Given the description of an element on the screen output the (x, y) to click on. 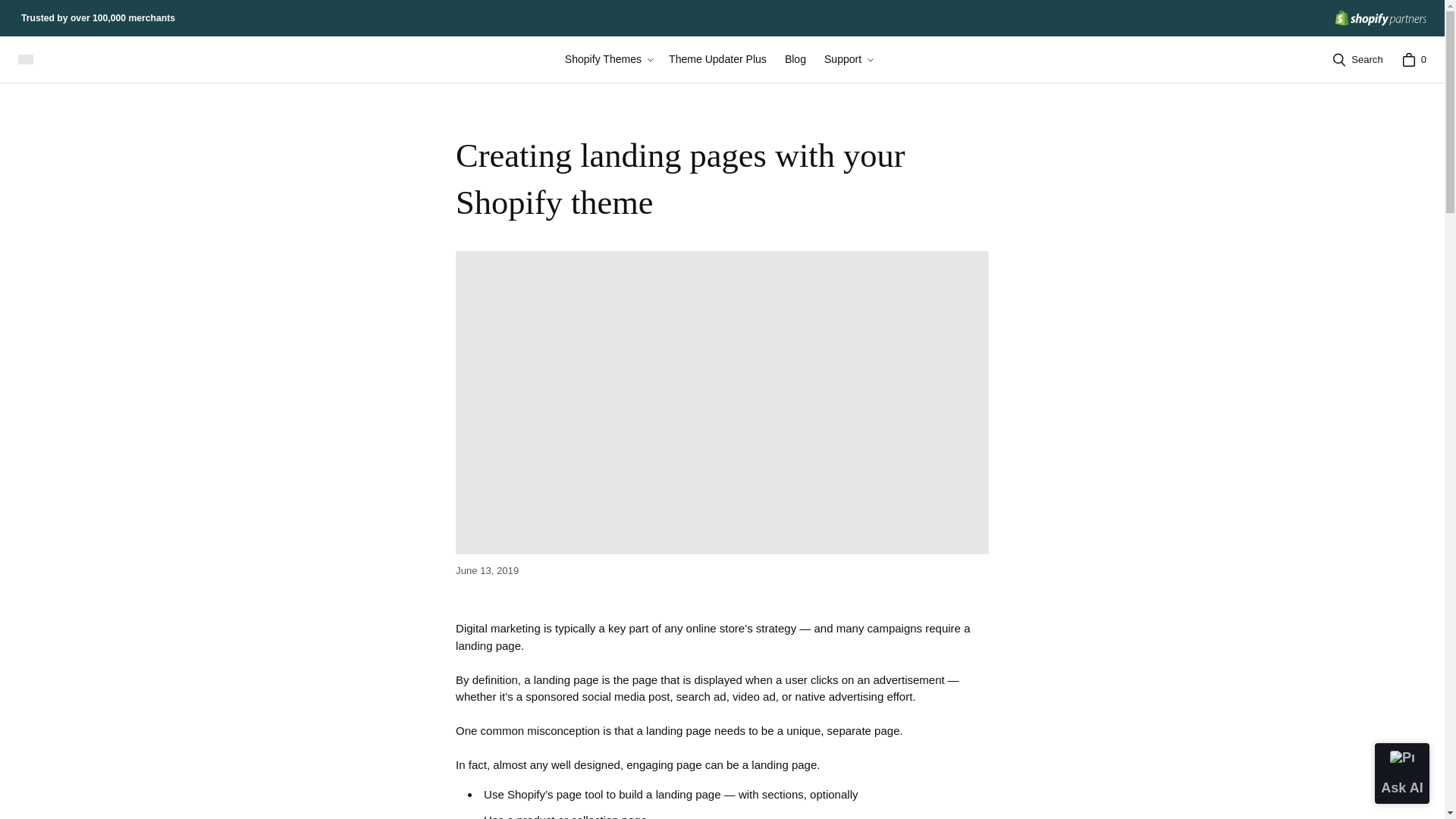
0 (1413, 59)
Search (1356, 59)
Theme Updater Plus (717, 59)
Blog (795, 59)
